Given the description of an element on the screen output the (x, y) to click on. 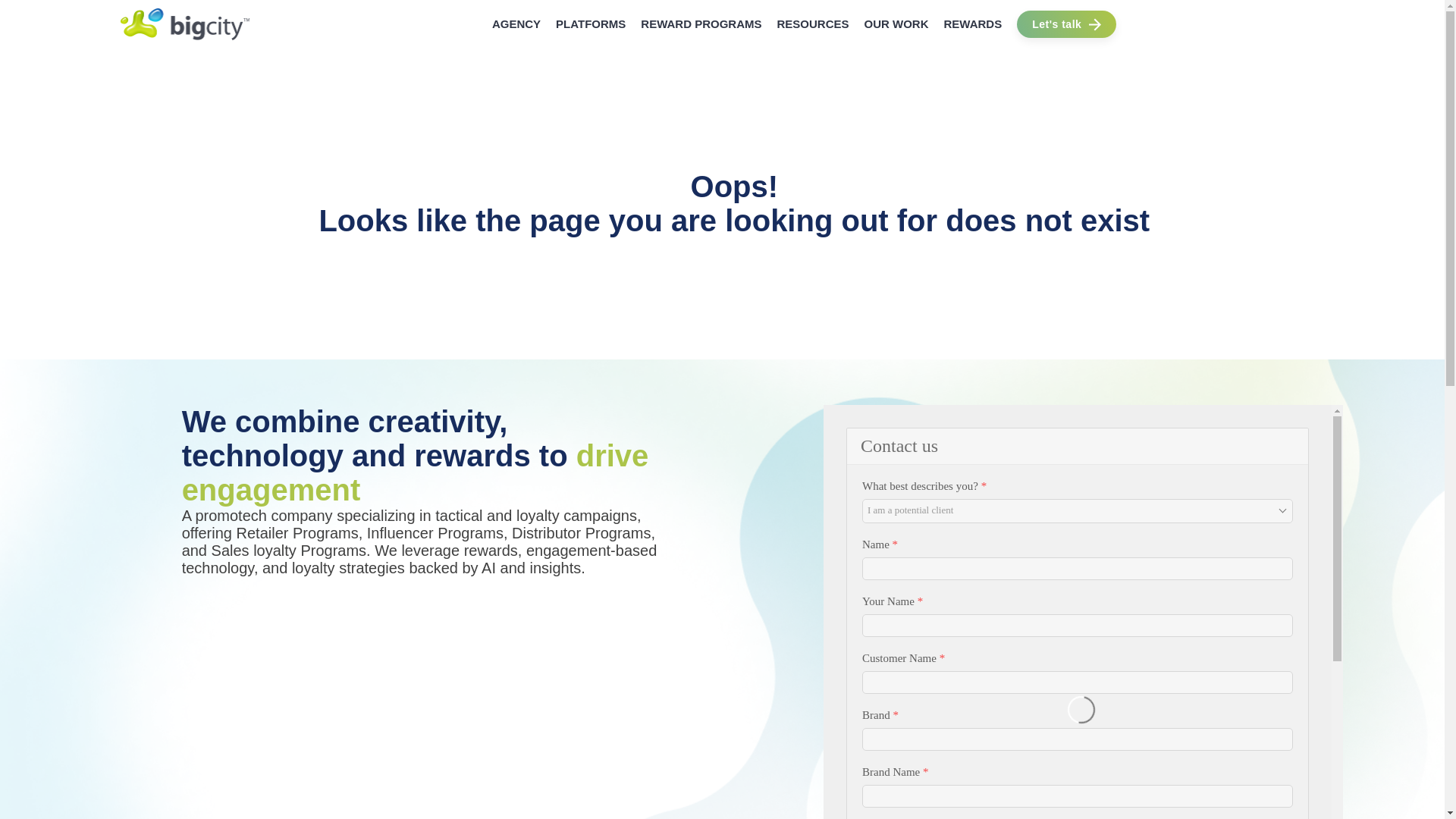
Let's talk (1067, 23)
PLATFORMS (591, 23)
REWARD PROGRAMS (700, 23)
RESOURCES (812, 23)
OUR WORK (896, 23)
REWARDS (973, 23)
AGENCY (516, 23)
